Given the description of an element on the screen output the (x, y) to click on. 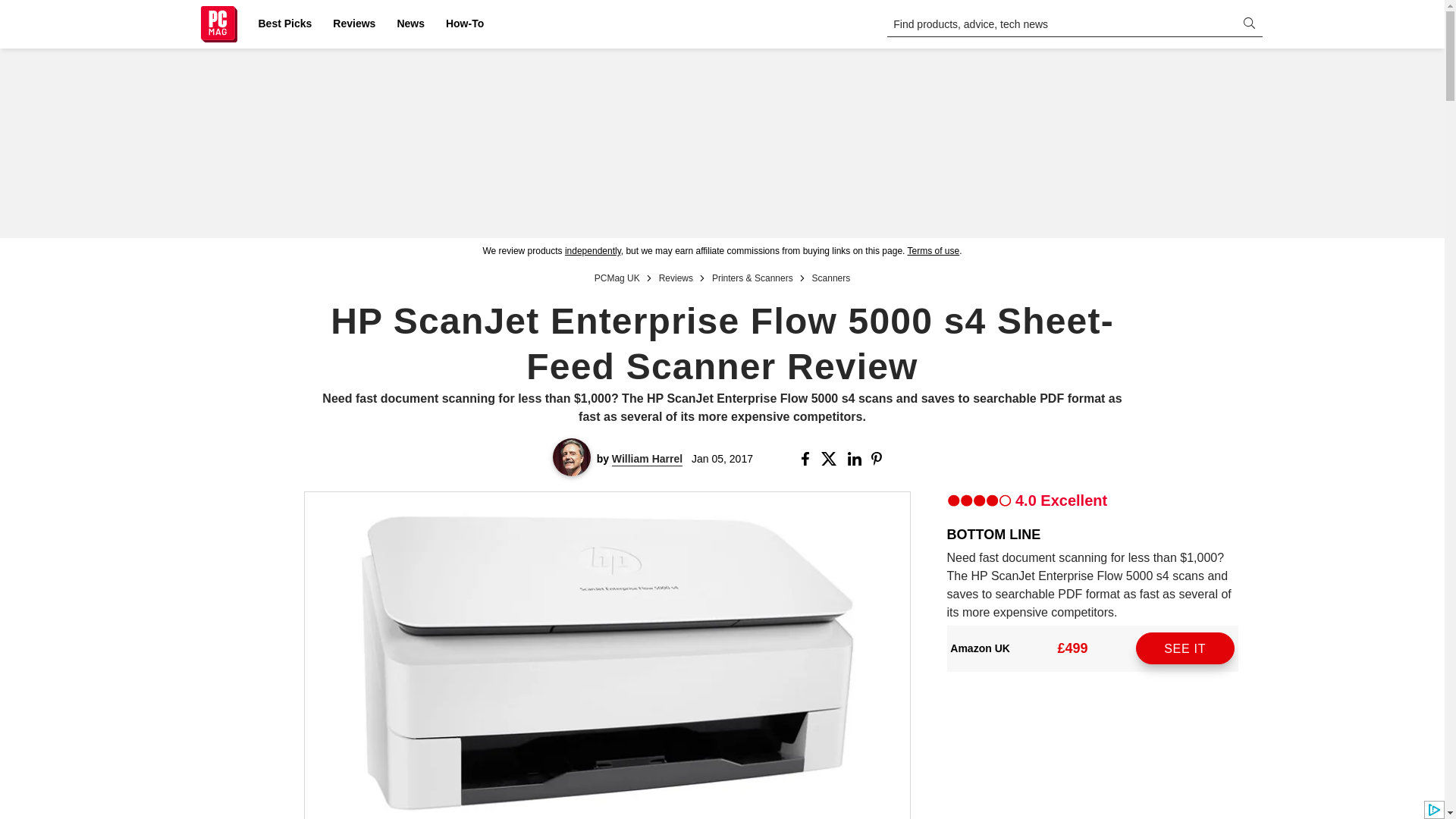
Best Picks (284, 24)
Share this Story on Pinterest (880, 459)
Share this Story on Facebook (808, 459)
Share this Story on Linkedin (855, 459)
Share this Story on X (831, 459)
